Given the description of an element on the screen output the (x, y) to click on. 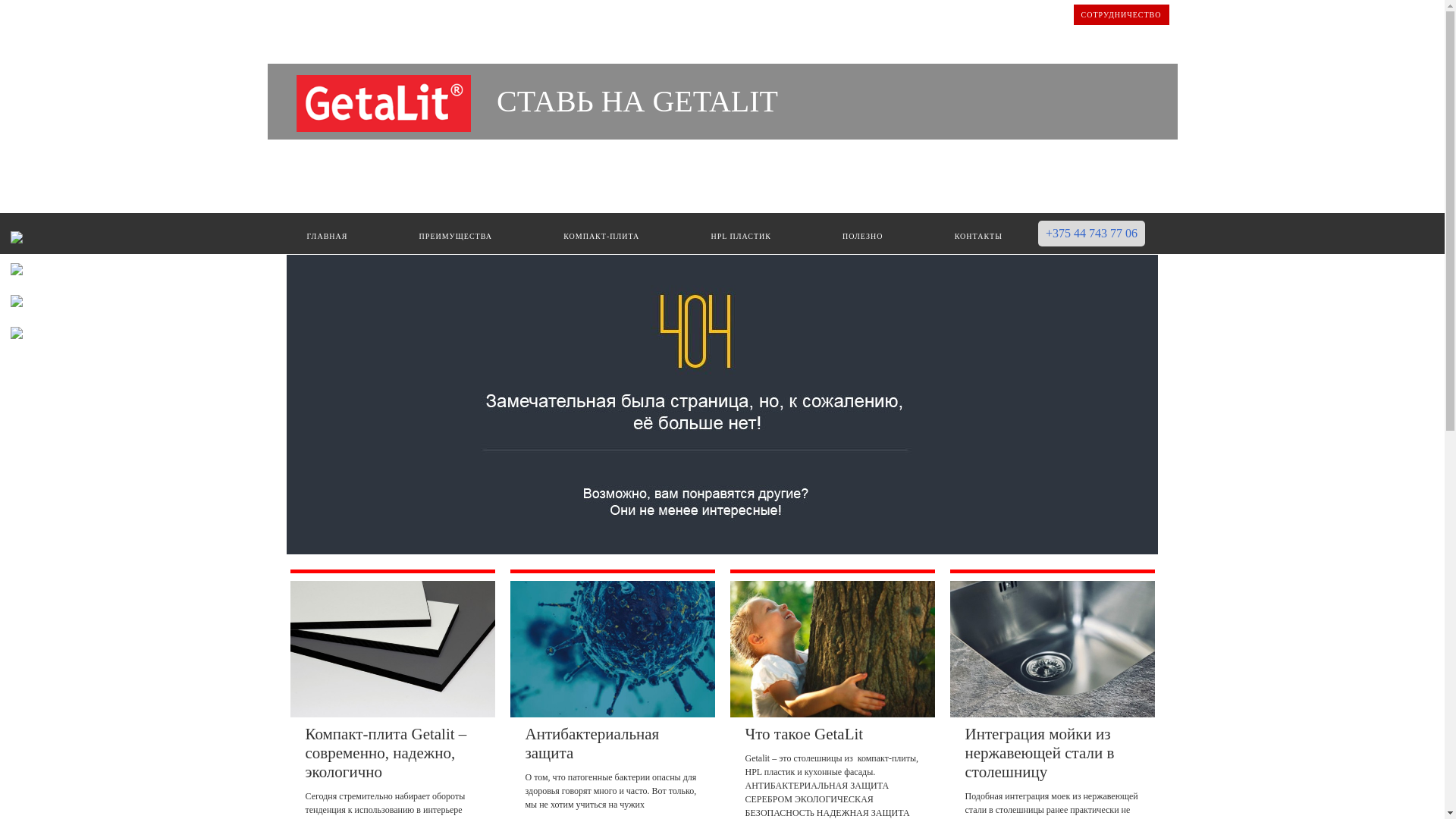
+375 44 743 77 06 Element type: text (1091, 233)
